Given the description of an element on the screen output the (x, y) to click on. 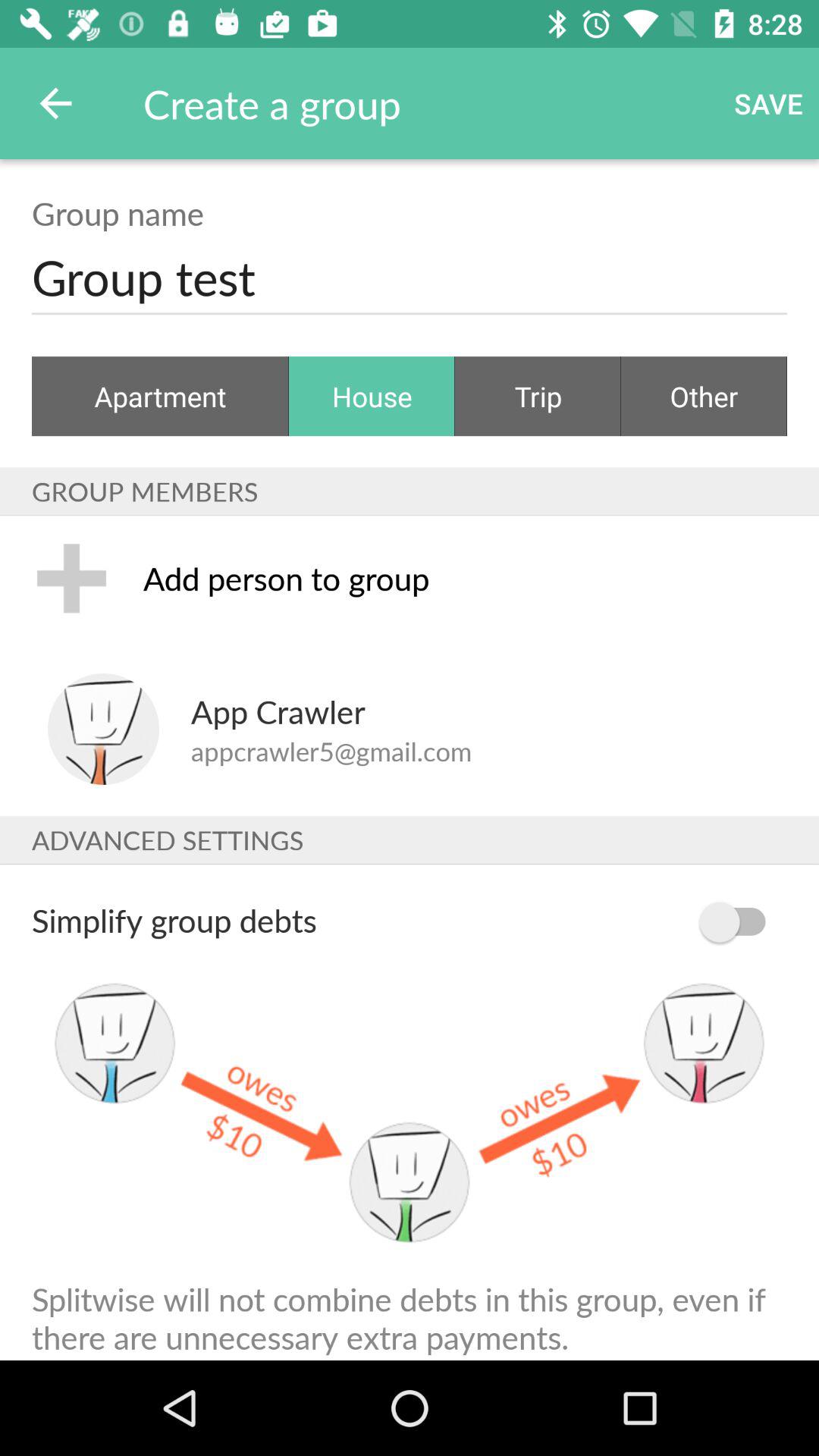
open icon next to the simplify group debts item (739, 922)
